Given the description of an element on the screen output the (x, y) to click on. 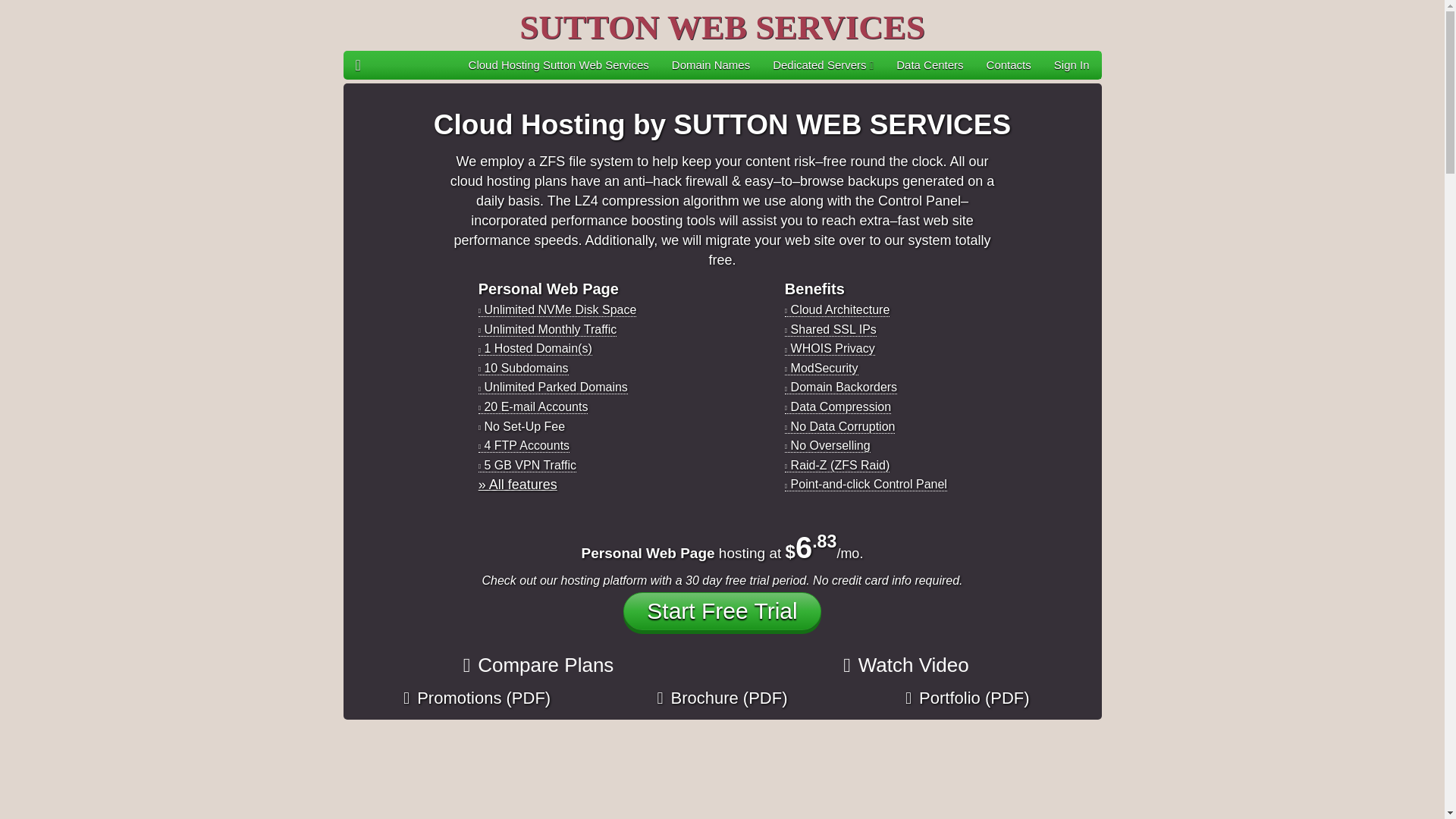
WHOIS Privacy (829, 347)
Start Free Trial (722, 610)
Personal Web Page Plan Details (518, 484)
Domain Backorders (840, 386)
20 E-mail Accounts (533, 406)
4 FTP Accounts (524, 444)
